Given the description of an element on the screen output the (x, y) to click on. 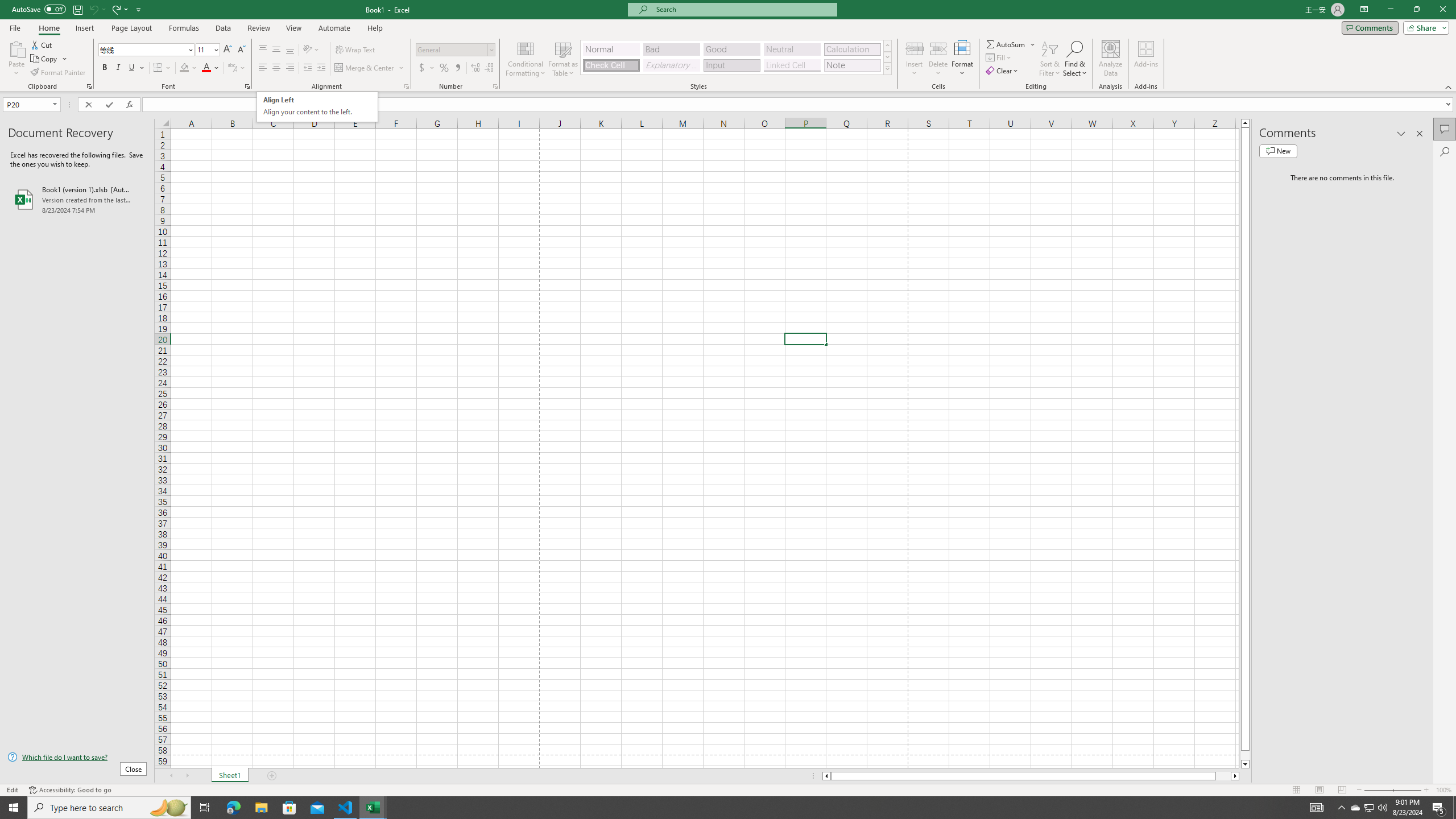
Number Format (455, 49)
Decrease Indent (307, 67)
Align Left (262, 67)
Sum (1006, 44)
Font Size (204, 49)
Row up (887, 45)
Accounting Number Format (426, 67)
Class: NetUIImage (887, 68)
Font Size (207, 49)
Analyze Data (1110, 58)
Check Cell (611, 65)
